Given the description of an element on the screen output the (x, y) to click on. 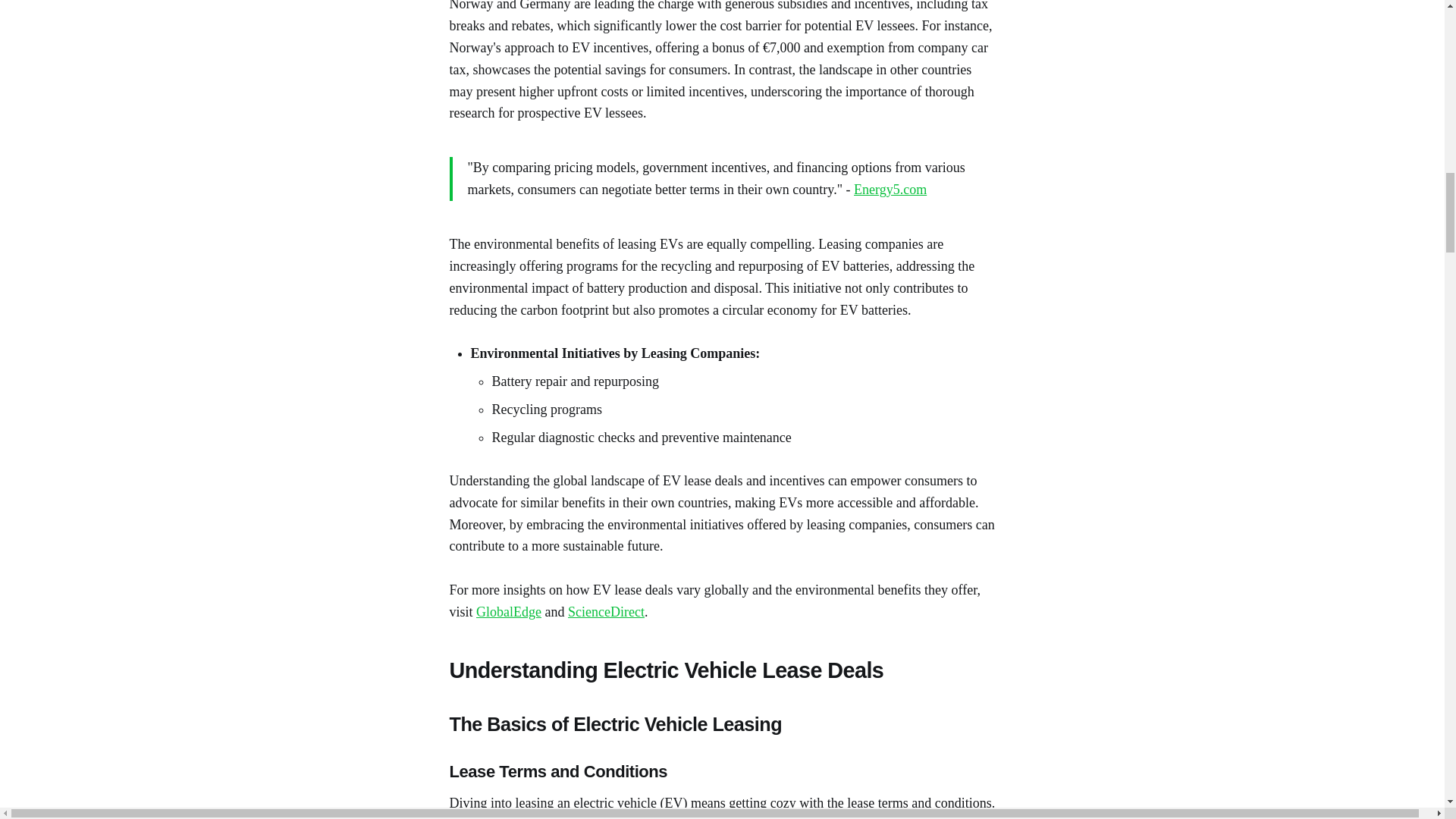
Polestar 2 (526, 818)
GlobalEdge (508, 611)
ScienceDirect (606, 611)
Energy5.com (889, 189)
